Given the description of an element on the screen output the (x, y) to click on. 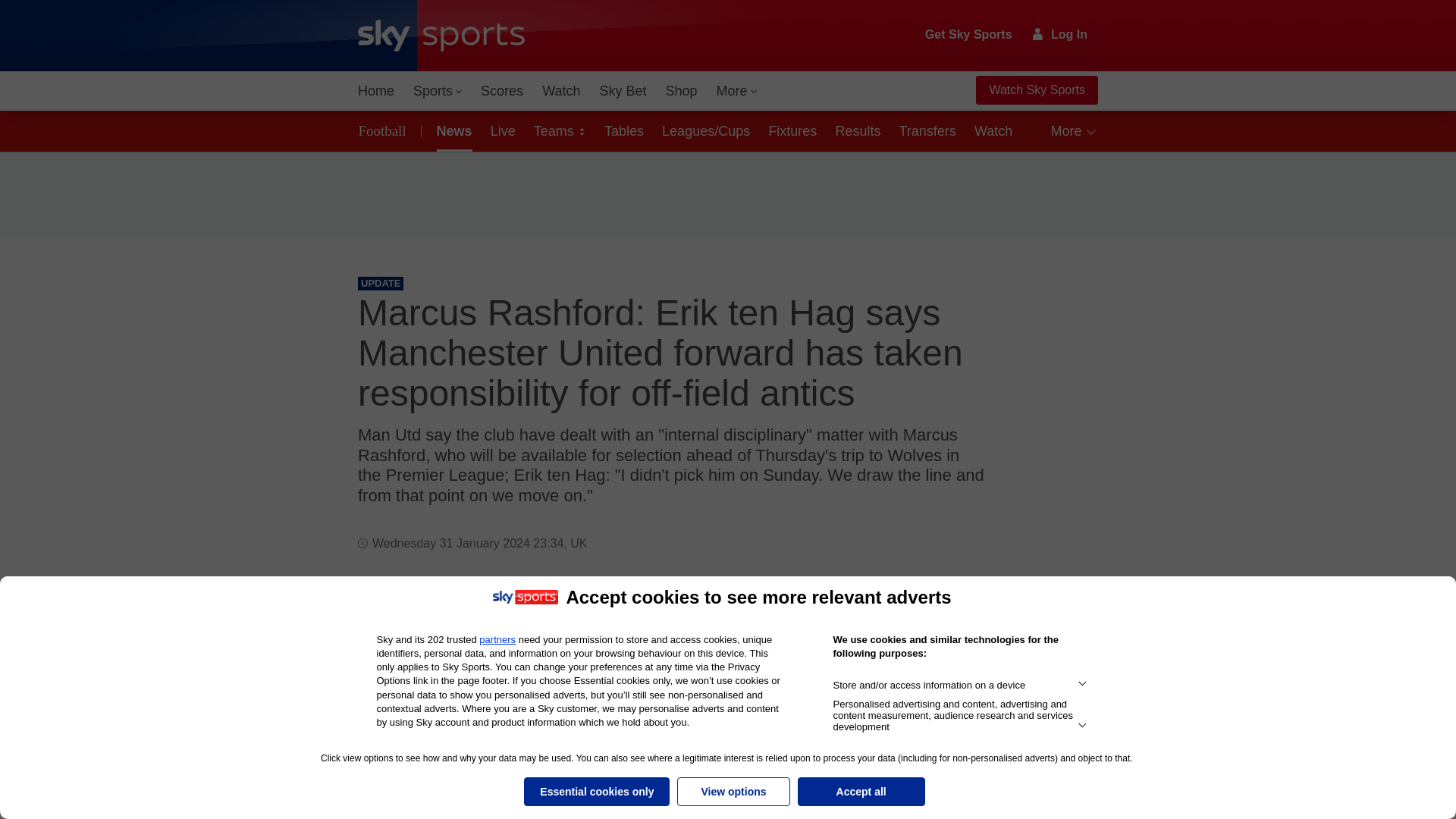
Football (385, 130)
Watch Sky Sports (1036, 90)
Shop (681, 91)
Home (375, 91)
Sky Bet (622, 91)
More (736, 91)
Watch (561, 91)
Sports (437, 91)
Log In (1060, 33)
Get Sky Sports (968, 34)
